Given the description of an element on the screen output the (x, y) to click on. 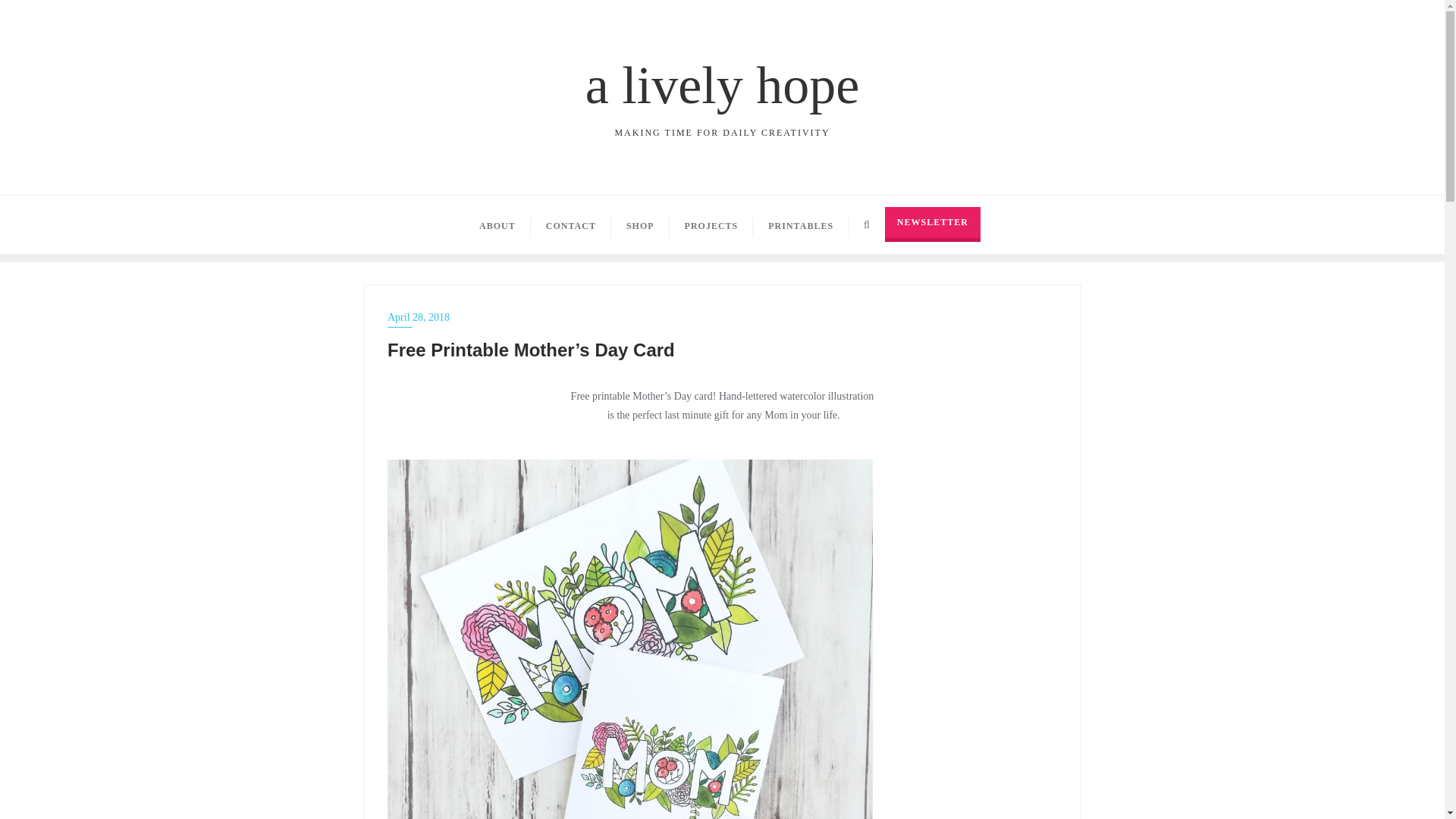
CONTACT (571, 224)
SHOP (640, 224)
ABOUT (497, 224)
April 28, 2018 (722, 316)
PRINTABLES (800, 224)
NEWSLETTER (722, 93)
PROJECTS (932, 224)
